Given the description of an element on the screen output the (x, y) to click on. 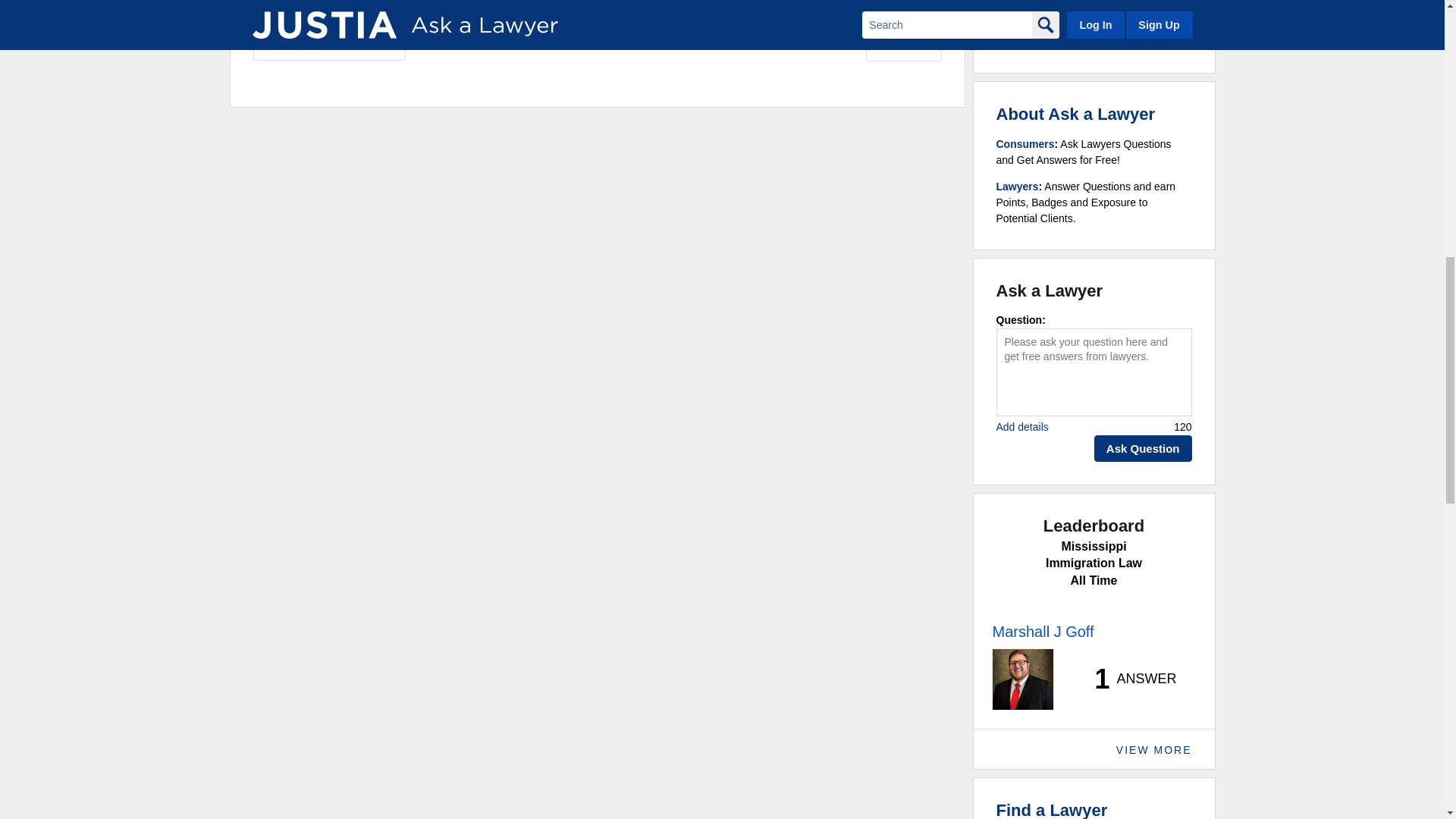
Ask a Lawyer - Leaderboard - Lawyer Photo (1021, 679)
Ask a Lawyer - Leaderboard - Lawyer Name (1042, 630)
I agree with this answer (329, 43)
Report (904, 44)
Ask a Lawyer - FAQs - Lawyers (1017, 186)
Ask a Lawyer - Leaderboard - Lawyer Stats (1127, 678)
Ask a Lawyer - FAQs - Consumers (1024, 143)
